Given the description of an element on the screen output the (x, y) to click on. 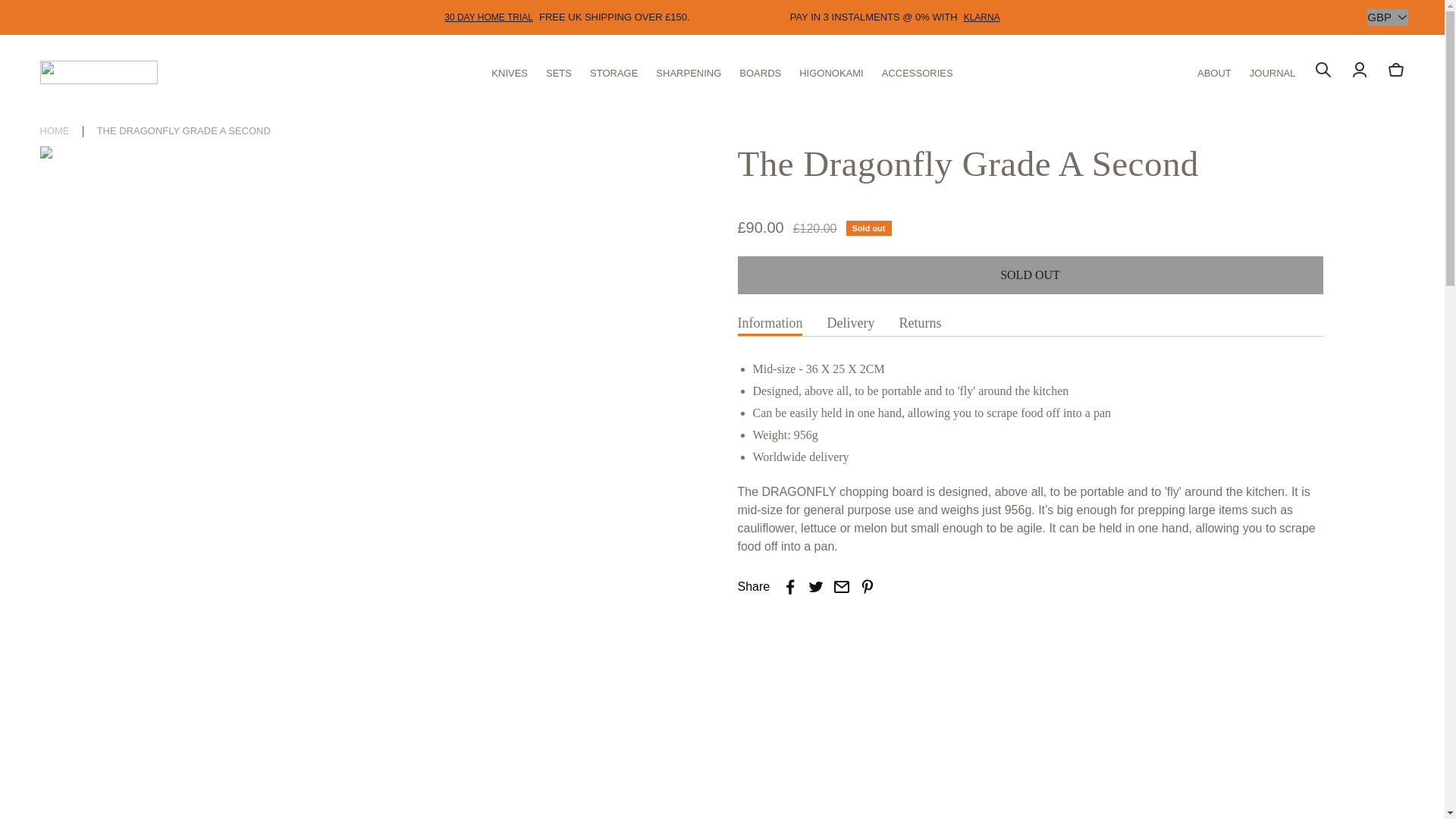
TOG Knives (98, 72)
STORAGE (613, 71)
BOARDS (759, 71)
JOURNAL (1272, 71)
30 DAY HOME TRIAL (488, 17)
ACCESSORIES (917, 71)
SHARPENING (688, 71)
HIGONOKAMI (831, 71)
SETS (559, 71)
KNIVES (509, 71)
